Given the description of an element on the screen output the (x, y) to click on. 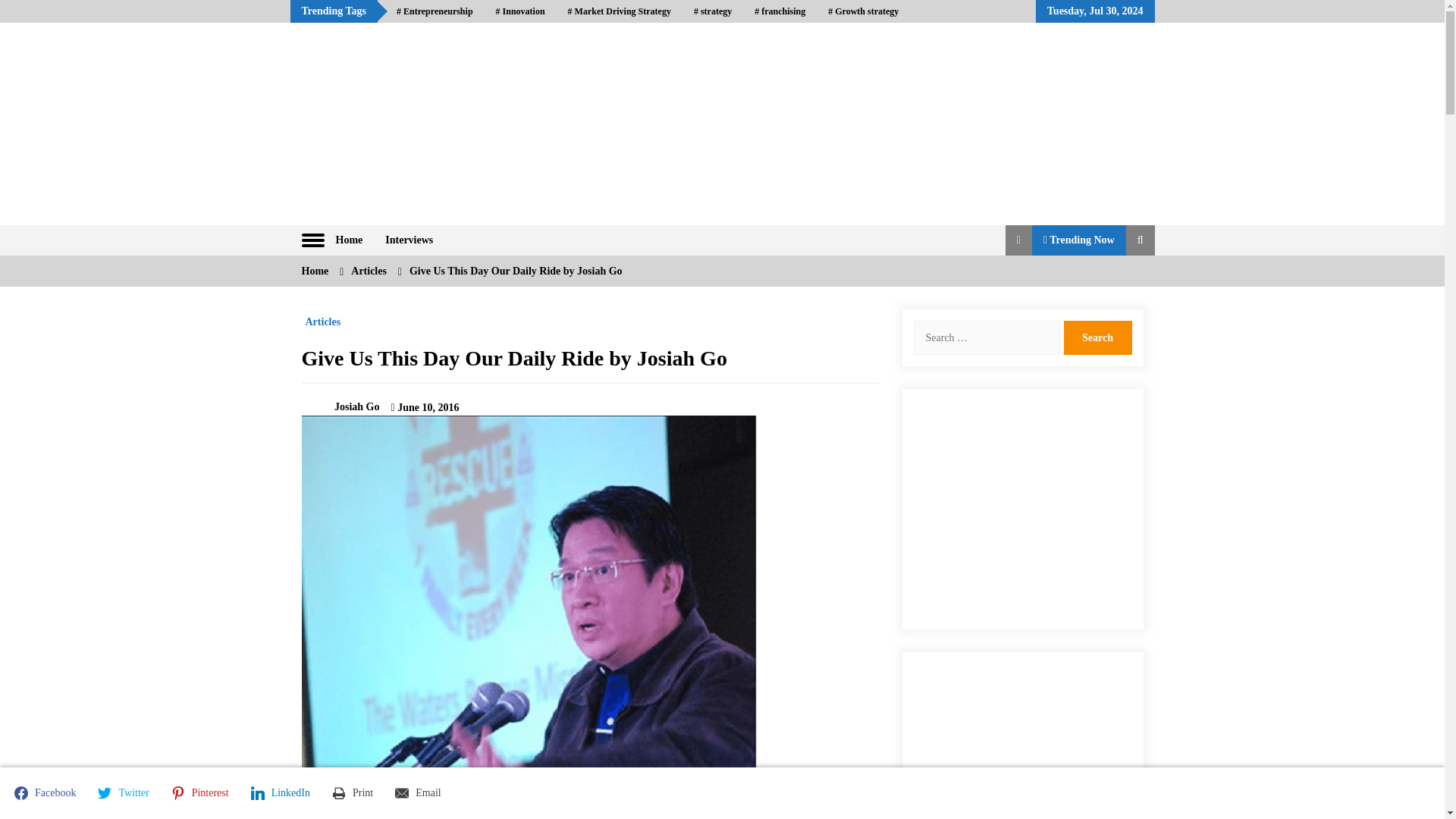
Home (349, 240)
Search (1096, 337)
Growth strategy (863, 11)
strategy (712, 11)
Innovation (520, 11)
Interviews (409, 240)
Entrepreneurship (434, 11)
Search (1096, 337)
The Marketing Mentor (433, 219)
Market Driving Strategy (619, 11)
franchising (779, 11)
Share on Facebook (47, 792)
